Given the description of an element on the screen output the (x, y) to click on. 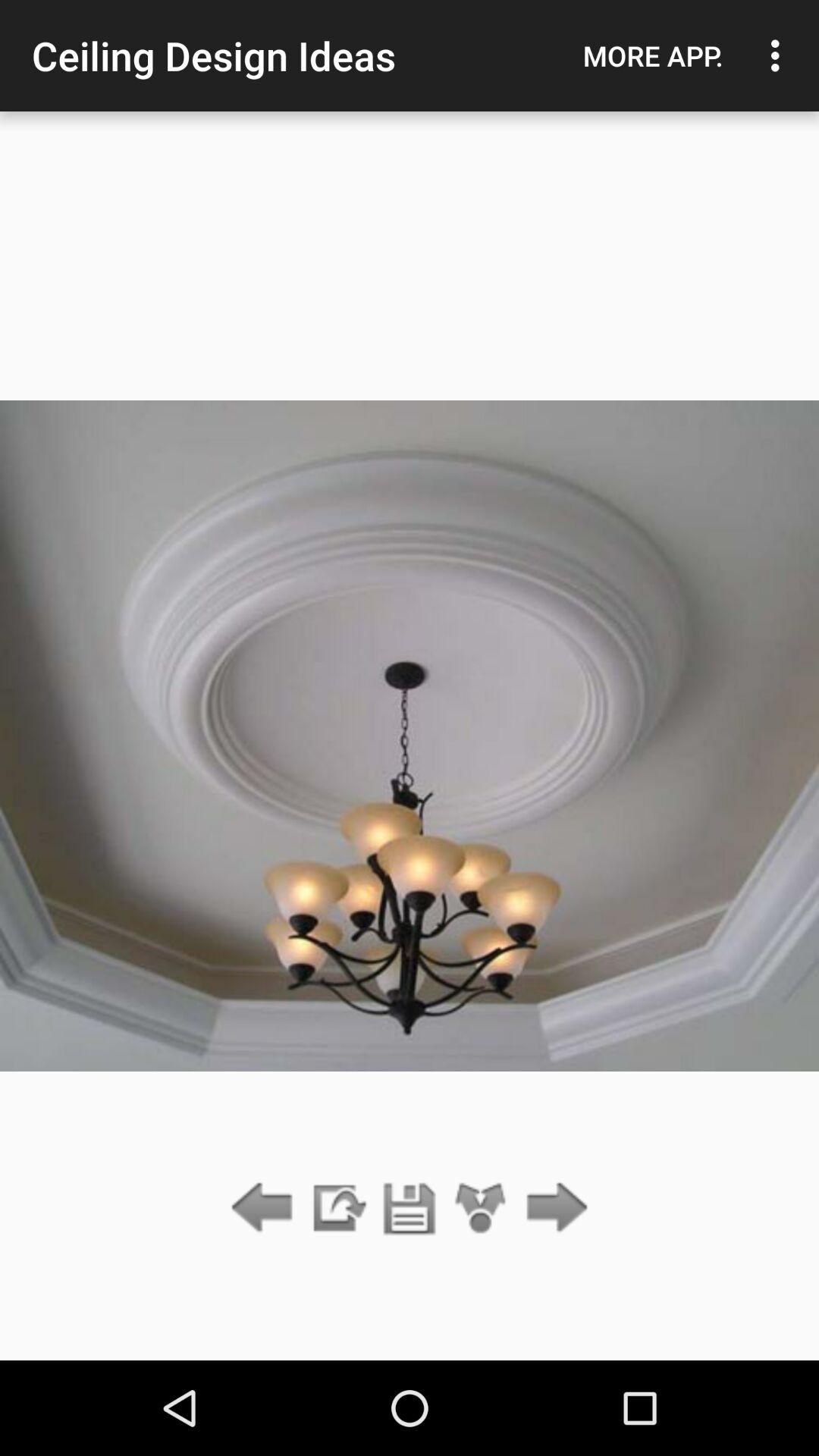
save image (409, 1208)
